Given the description of an element on the screen output the (x, y) to click on. 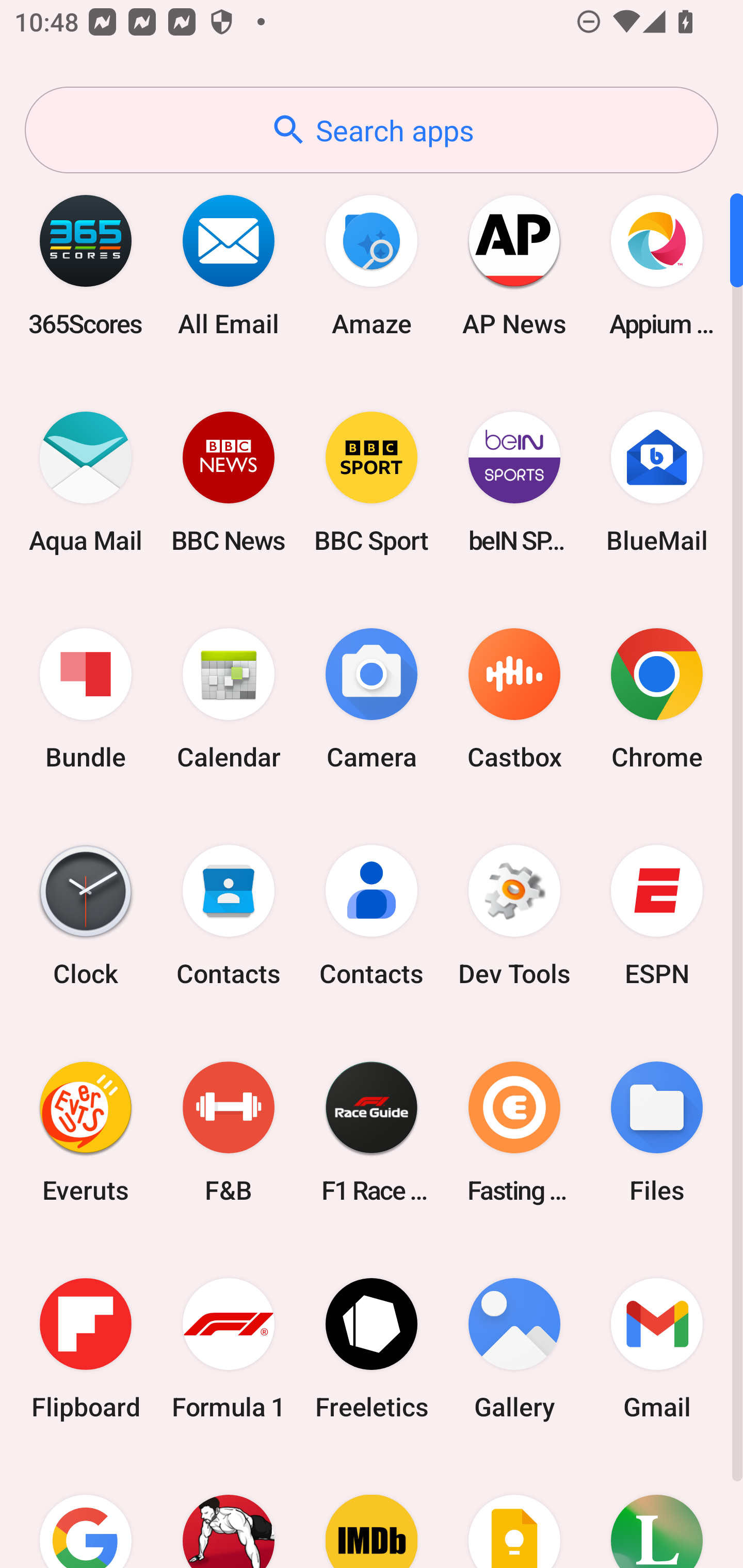
  Search apps (371, 130)
365Scores (85, 264)
All Email (228, 264)
Amaze (371, 264)
AP News (514, 264)
Appium Settings (656, 264)
Aqua Mail (85, 482)
BBC News (228, 482)
BBC Sport (371, 482)
beIN SPORTS (514, 482)
BlueMail (656, 482)
Bundle (85, 699)
Calendar (228, 699)
Camera (371, 699)
Castbox (514, 699)
Chrome (656, 699)
Clock (85, 915)
Contacts (228, 915)
Contacts (371, 915)
Dev Tools (514, 915)
ESPN (656, 915)
Everuts (85, 1131)
F&B (228, 1131)
F1 Race Guide (371, 1131)
Fasting Coach (514, 1131)
Files (656, 1131)
Flipboard (85, 1348)
Formula 1 (228, 1348)
Freeletics (371, 1348)
Gallery (514, 1348)
Gmail (656, 1348)
Google (85, 1512)
Home Workout (228, 1512)
IMDb (371, 1512)
Keep Notes (514, 1512)
Lifesum (656, 1512)
